Given the description of an element on the screen output the (x, y) to click on. 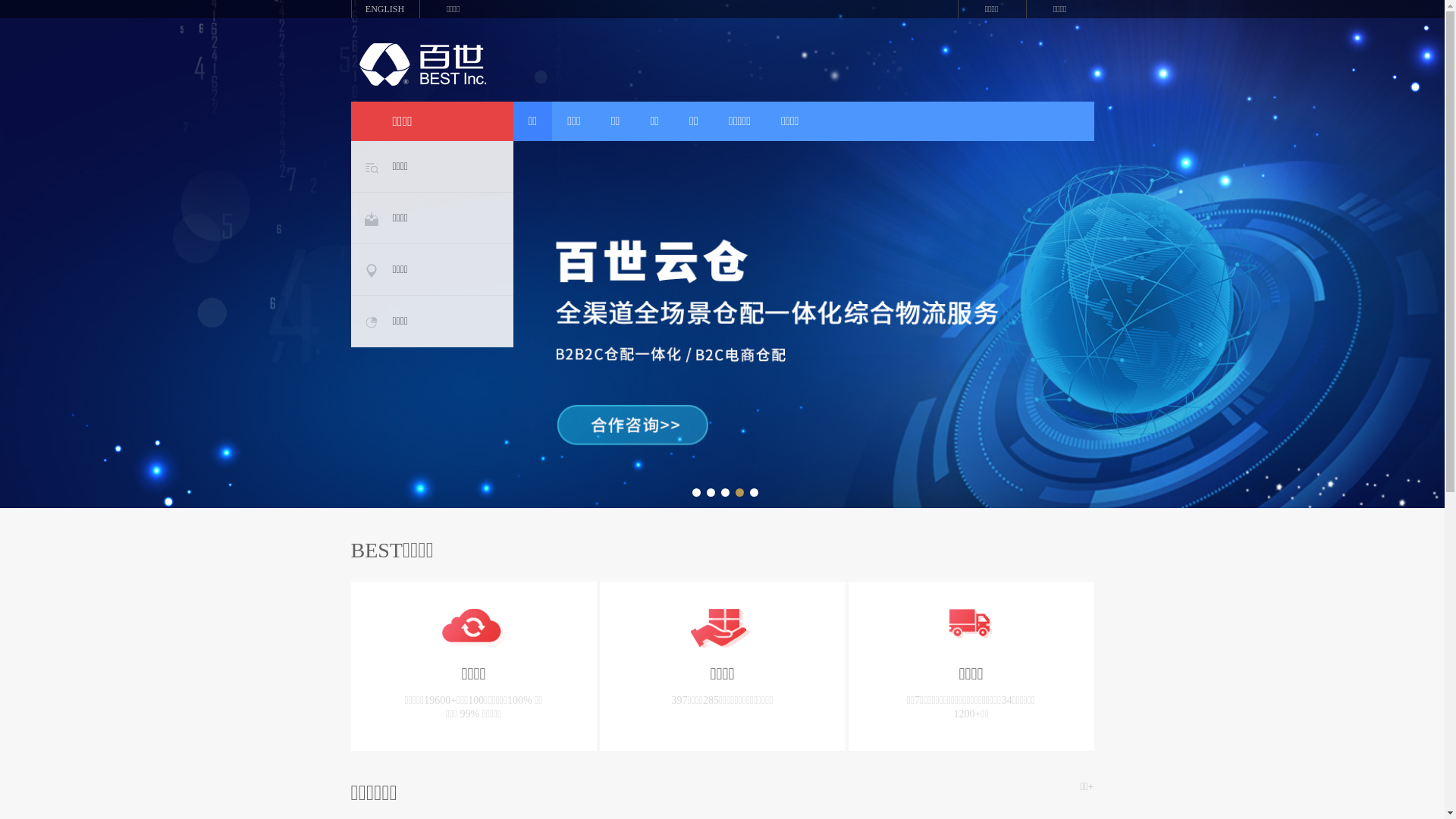
ENGLISH Element type: text (384, 9)
